Given the description of an element on the screen output the (x, y) to click on. 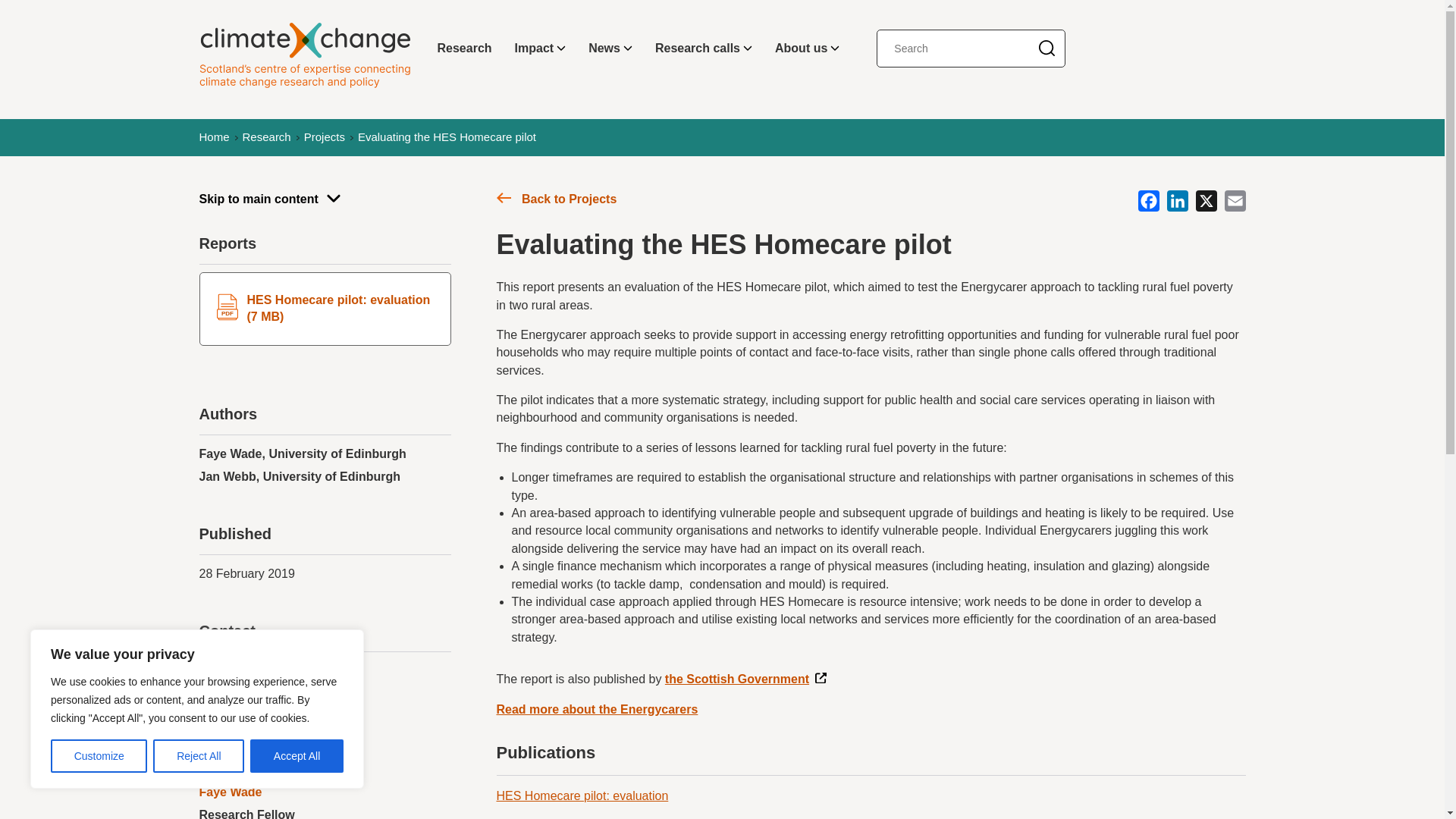
Research (267, 137)
Evaluating the HES Homecare pilot (446, 137)
News (609, 48)
About us (806, 48)
Impact (540, 48)
Research (464, 48)
Research calls (702, 48)
Customize (98, 756)
Accept All (296, 756)
Reject All (198, 756)
Home (213, 137)
Search blog articles, pages, publications and projects (1046, 48)
Projects (324, 137)
Skip to main content (323, 199)
